Given the description of an element on the screen output the (x, y) to click on. 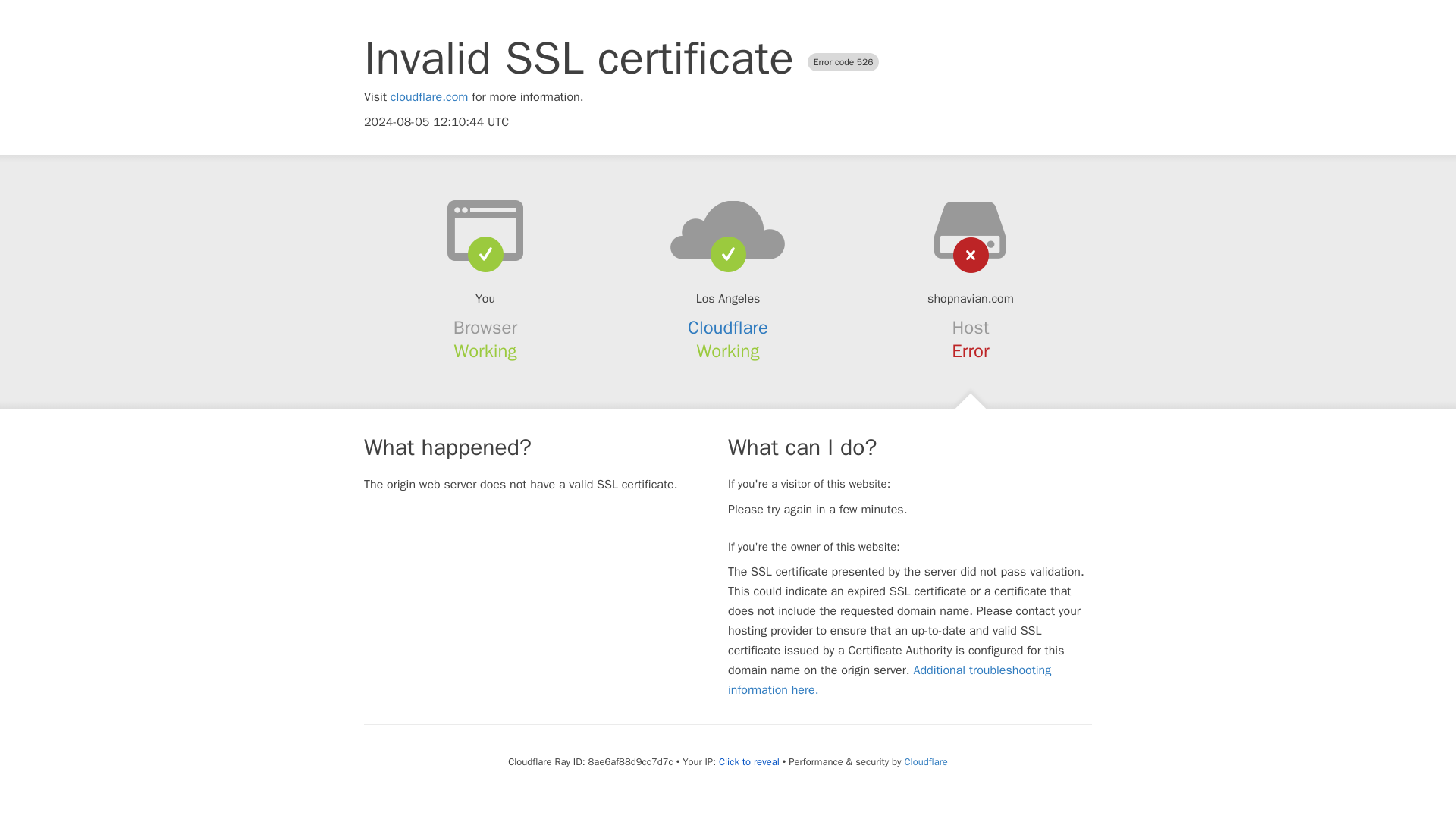
Click to reveal (748, 762)
Cloudflare (925, 761)
Additional troubleshooting information here. (889, 679)
cloudflare.com (429, 96)
Cloudflare (727, 327)
